Given the description of an element on the screen output the (x, y) to click on. 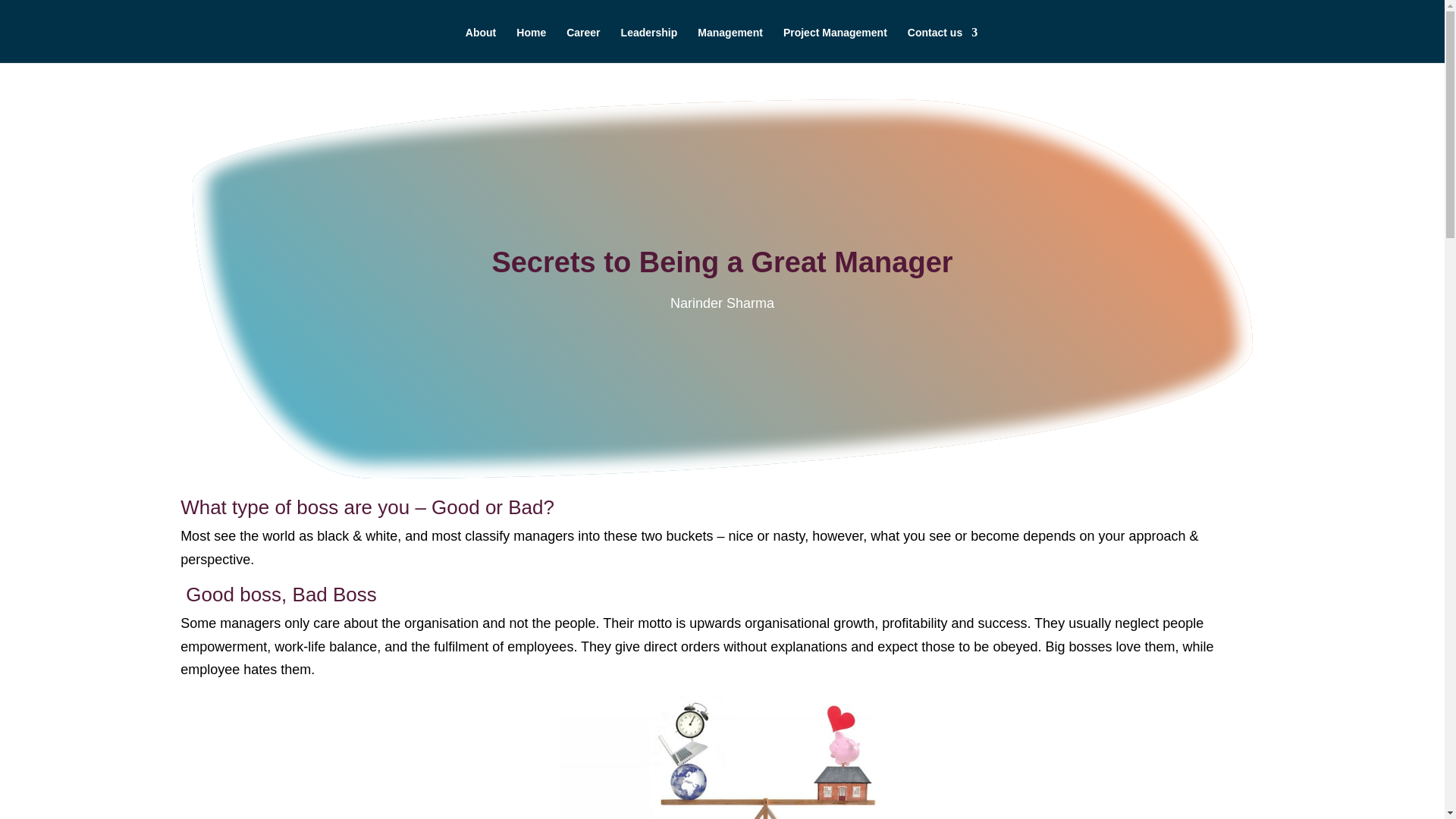
Career (582, 45)
Leadership (649, 45)
Contact us (941, 45)
Project Management (834, 45)
Management (729, 45)
